Given the description of an element on the screen output the (x, y) to click on. 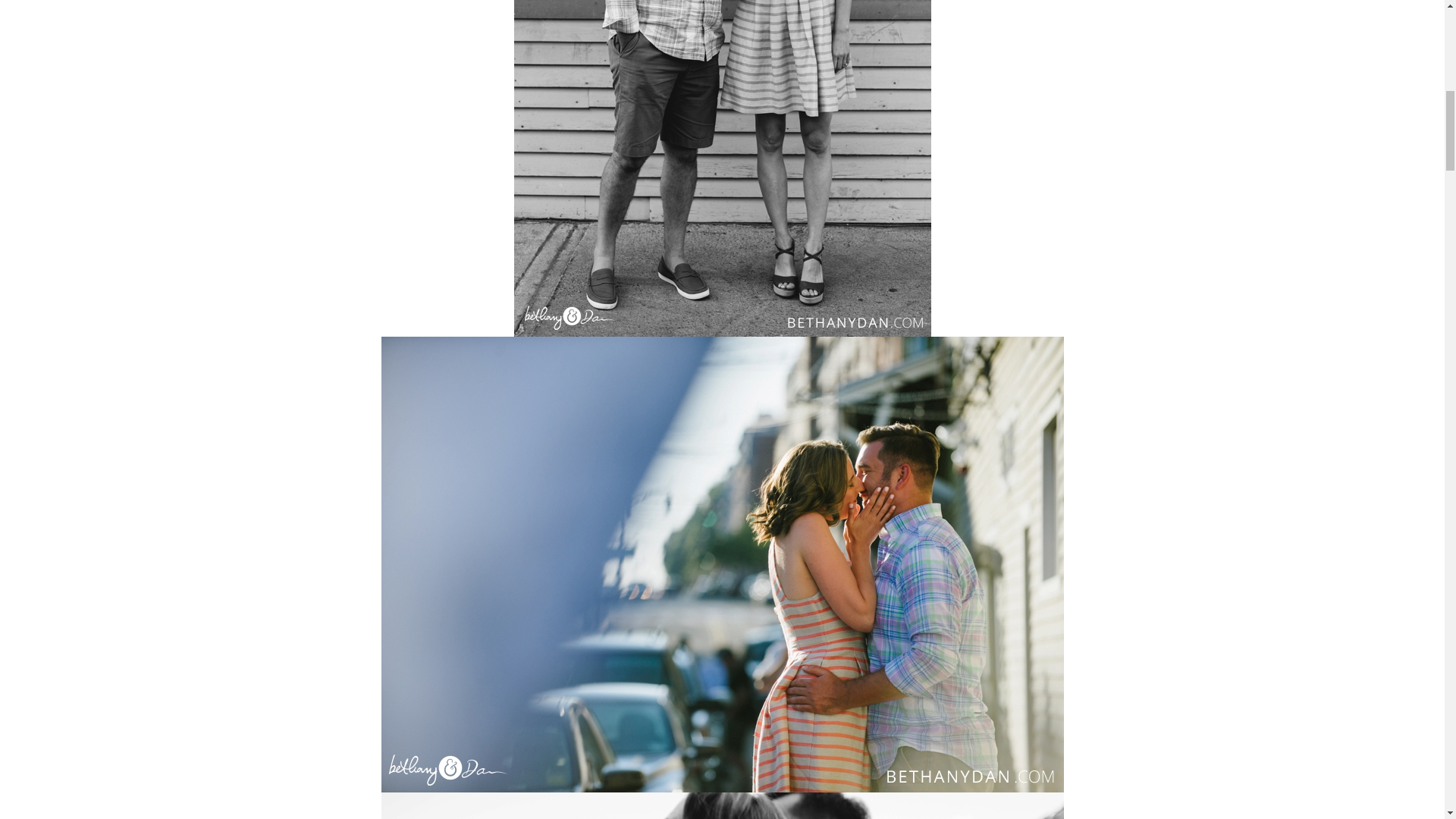
Old Port Engagement Photo  (721, 805)
